Given the description of an element on the screen output the (x, y) to click on. 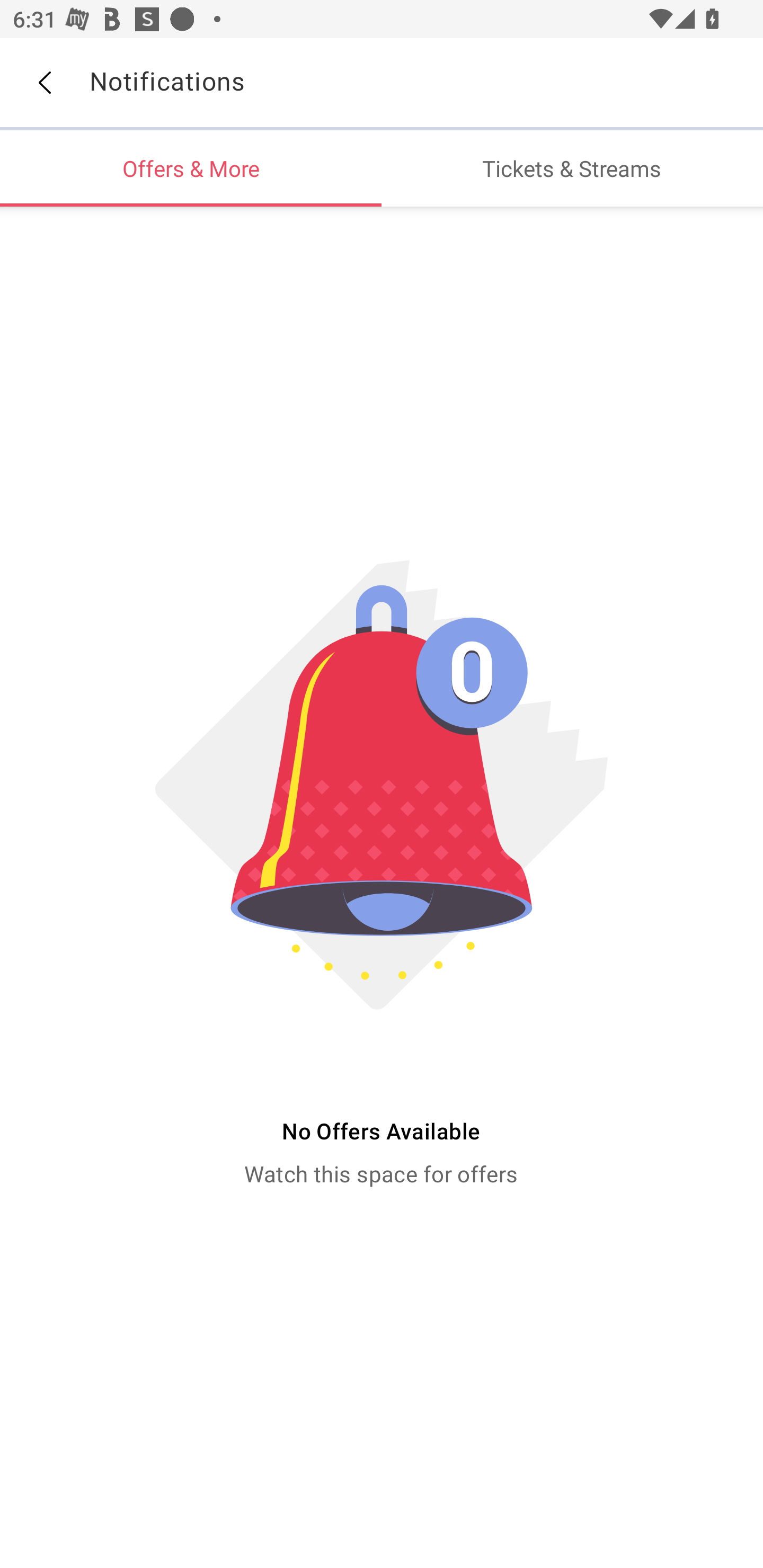
Back (44, 82)
Tickets & Streams (572, 168)
